Given the description of an element on the screen output the (x, y) to click on. 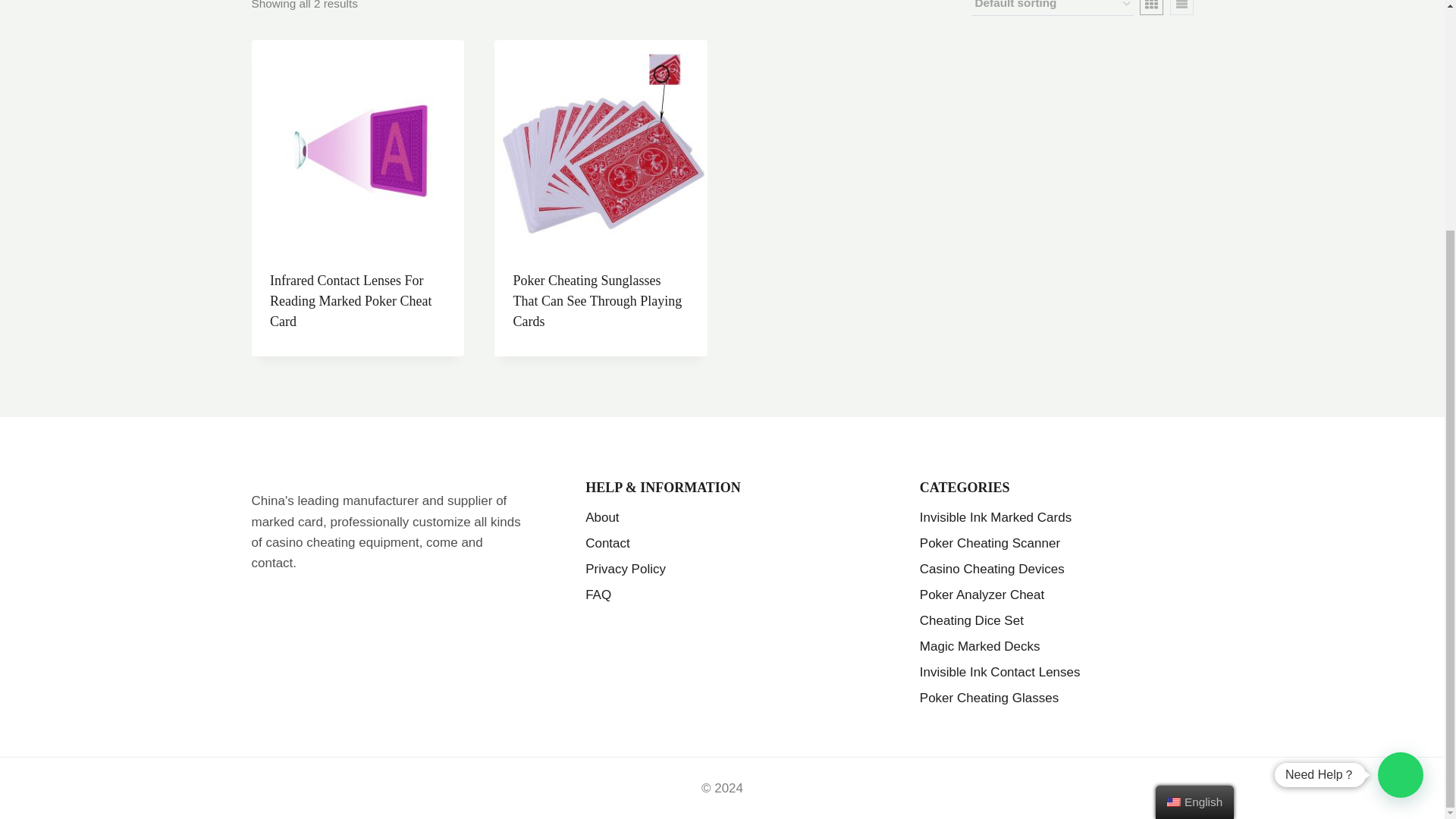
Invisible Ink Marked Cards (1056, 517)
Contact (722, 543)
List View (1180, 7)
Poker Cheating Sunglasses That Can See Through Playing Cards (596, 300)
Grid View (1151, 7)
Poker Cheating Scanner (1056, 543)
Infrared Contact Lenses For Reading Marked Poker Cheat Card (349, 300)
About (722, 517)
FAQ (722, 595)
Casino Cheating Devices (1056, 569)
